Given the description of an element on the screen output the (x, y) to click on. 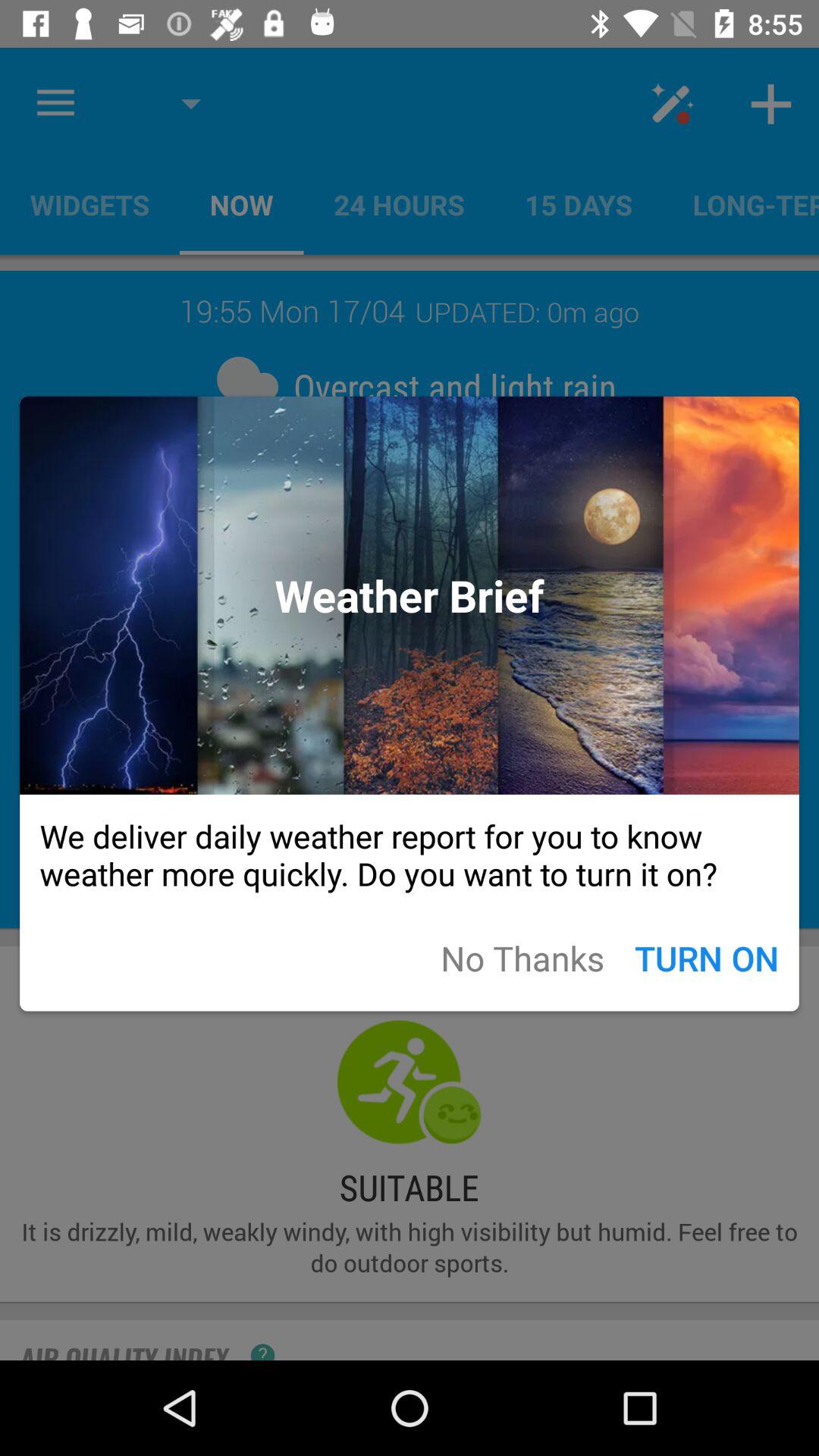
turn off app below the we deliver daily (522, 958)
